Given the description of an element on the screen output the (x, y) to click on. 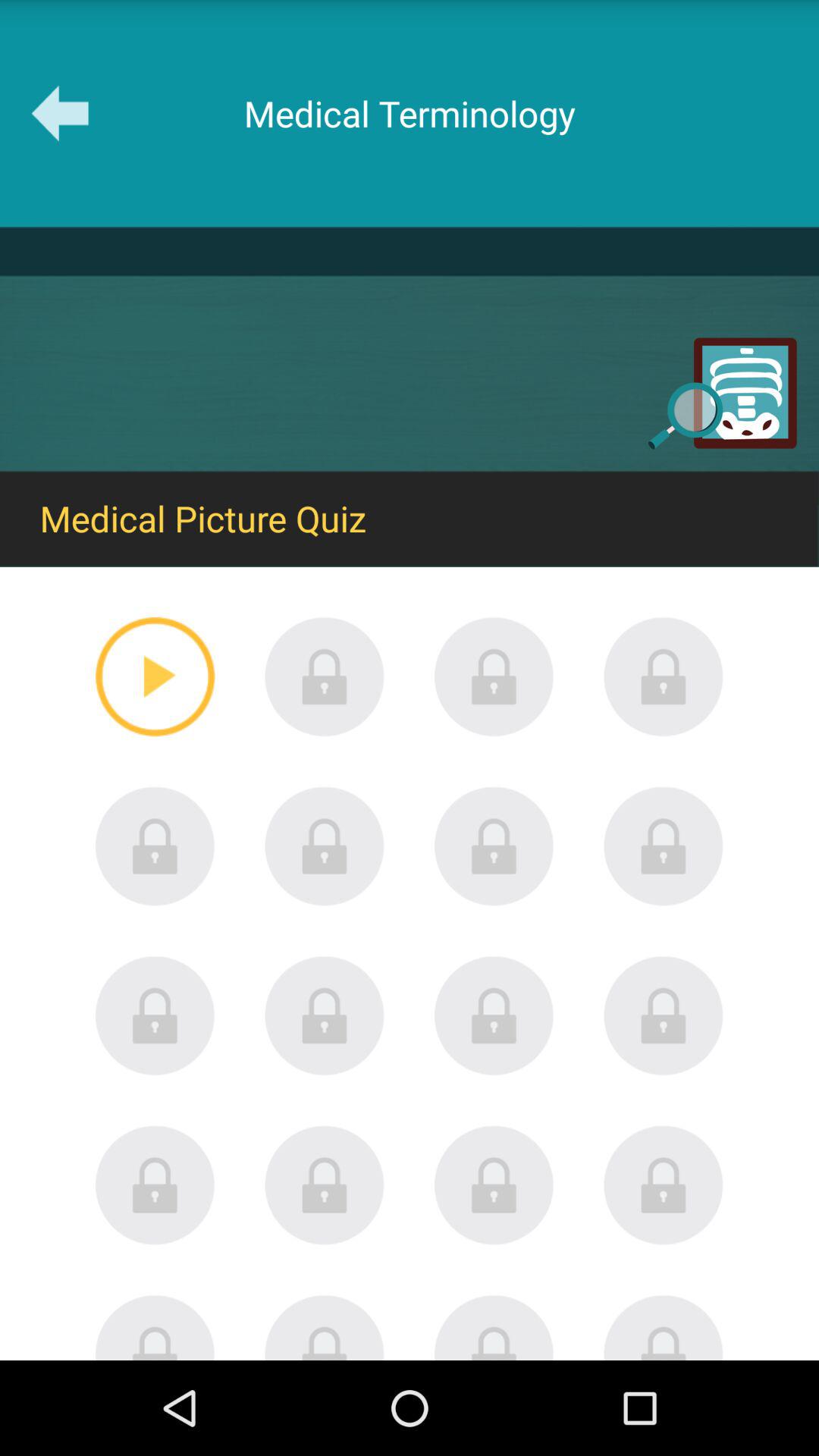
it is locked (493, 1327)
